Given the description of an element on the screen output the (x, y) to click on. 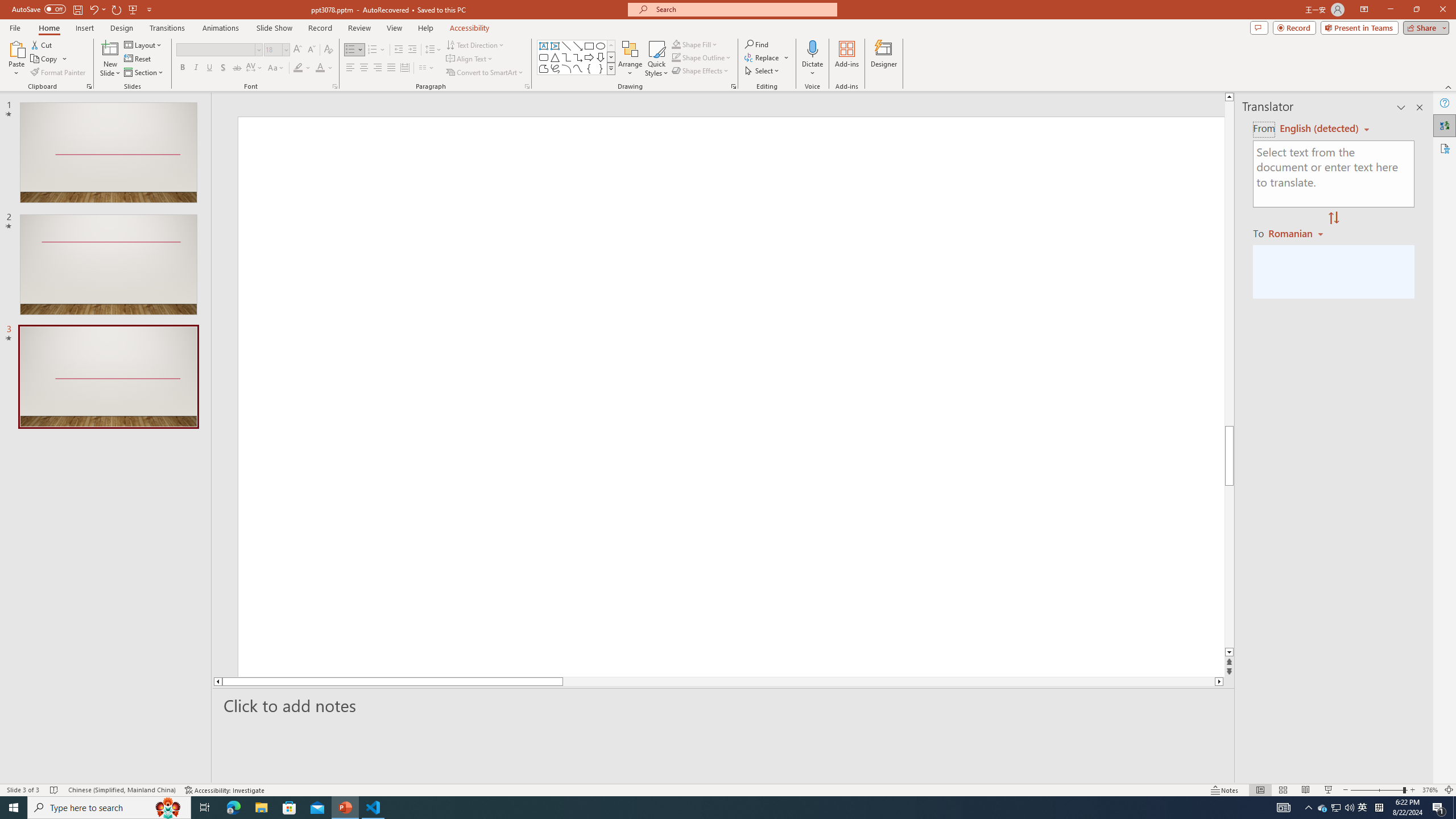
Shape Outline Green, Accent 1 (675, 56)
